Given the description of an element on the screen output the (x, y) to click on. 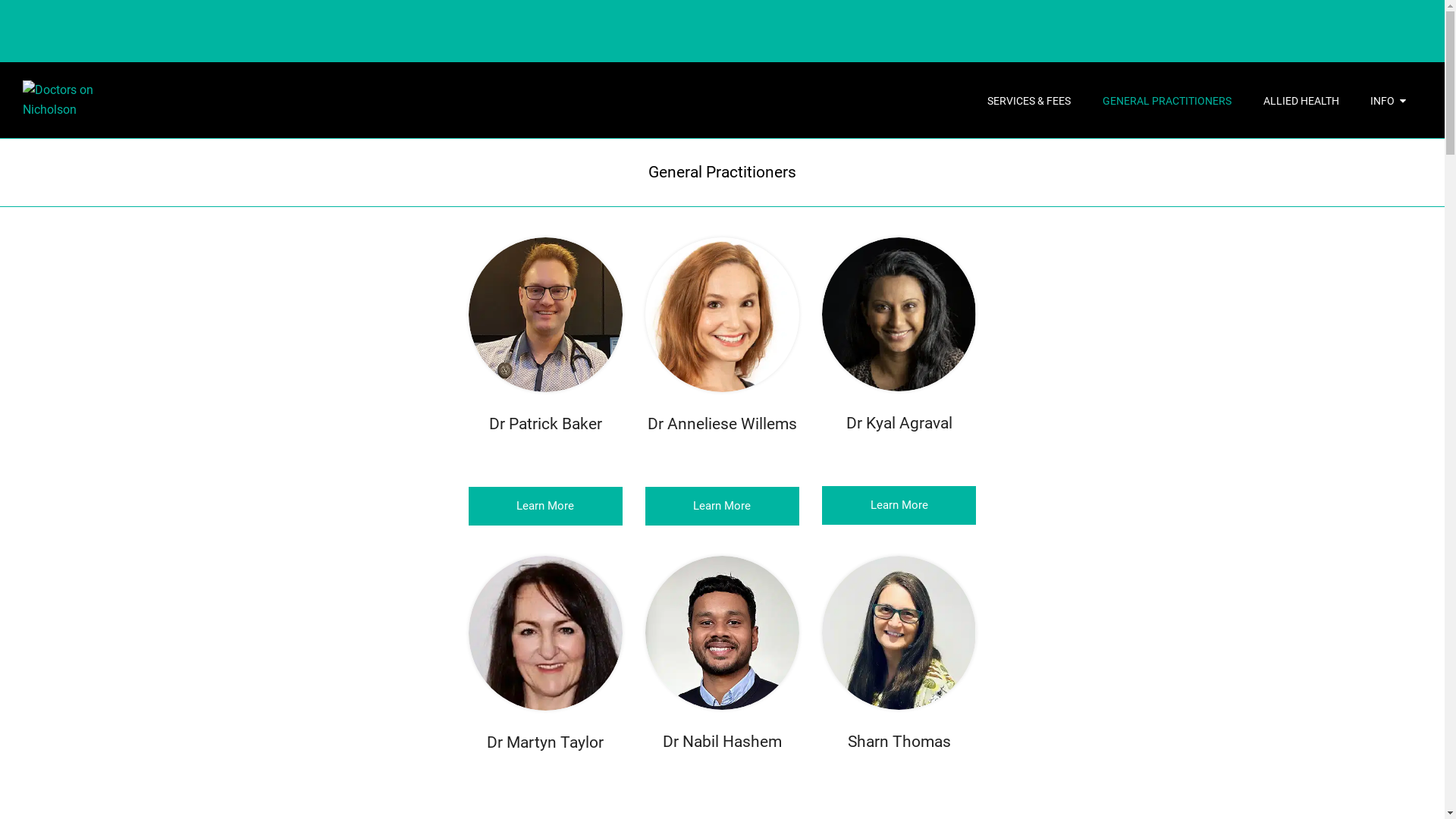
patrick-baker-gp-doctors-on-nicholson-crop Element type: hover (545, 246)
Learn More Element type: text (545, 505)
GENERAL PRACTITIONERS Element type: text (1166, 100)
sharn Element type: hover (898, 565)
Dr-Nabil-Hashem Element type: hover (722, 565)
martyn Element type: hover (898, 246)
ALLIED HEALTH Element type: text (1301, 100)
SERVICES & FEES Element type: text (1029, 100)
Learn More Element type: text (898, 505)
INFO Element type: text (1387, 100)
Learn More Element type: text (722, 505)
kyle Element type: hover (545, 565)
Cropped photo anneliese willems Element type: hover (722, 246)
